Given the description of an element on the screen output the (x, y) to click on. 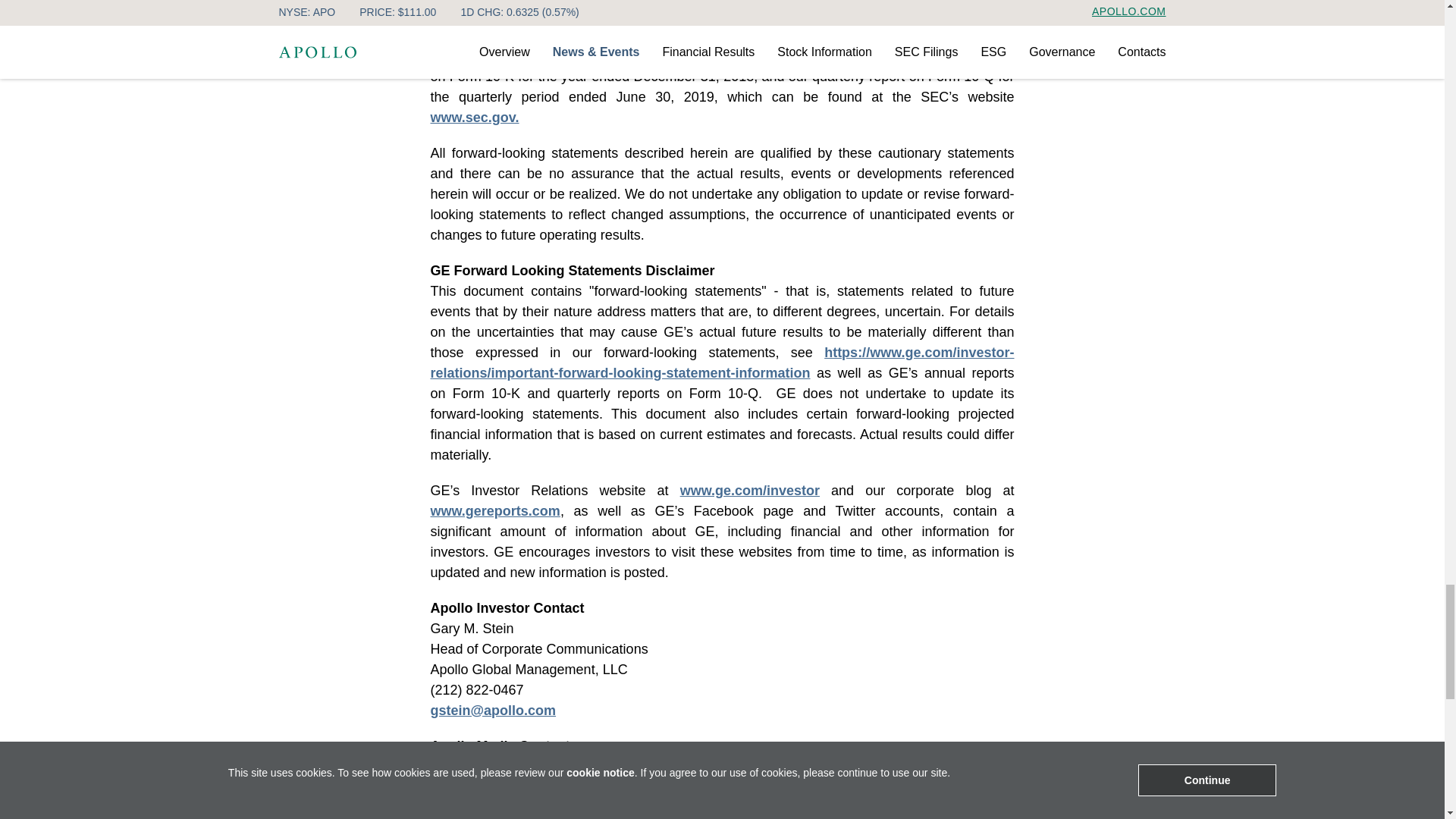
Opens in a new window (495, 510)
Opens in a new window (722, 362)
Opens in a new window (749, 490)
Opens in a new window (493, 710)
Opens in a new window (474, 117)
